Given the description of an element on the screen output the (x, y) to click on. 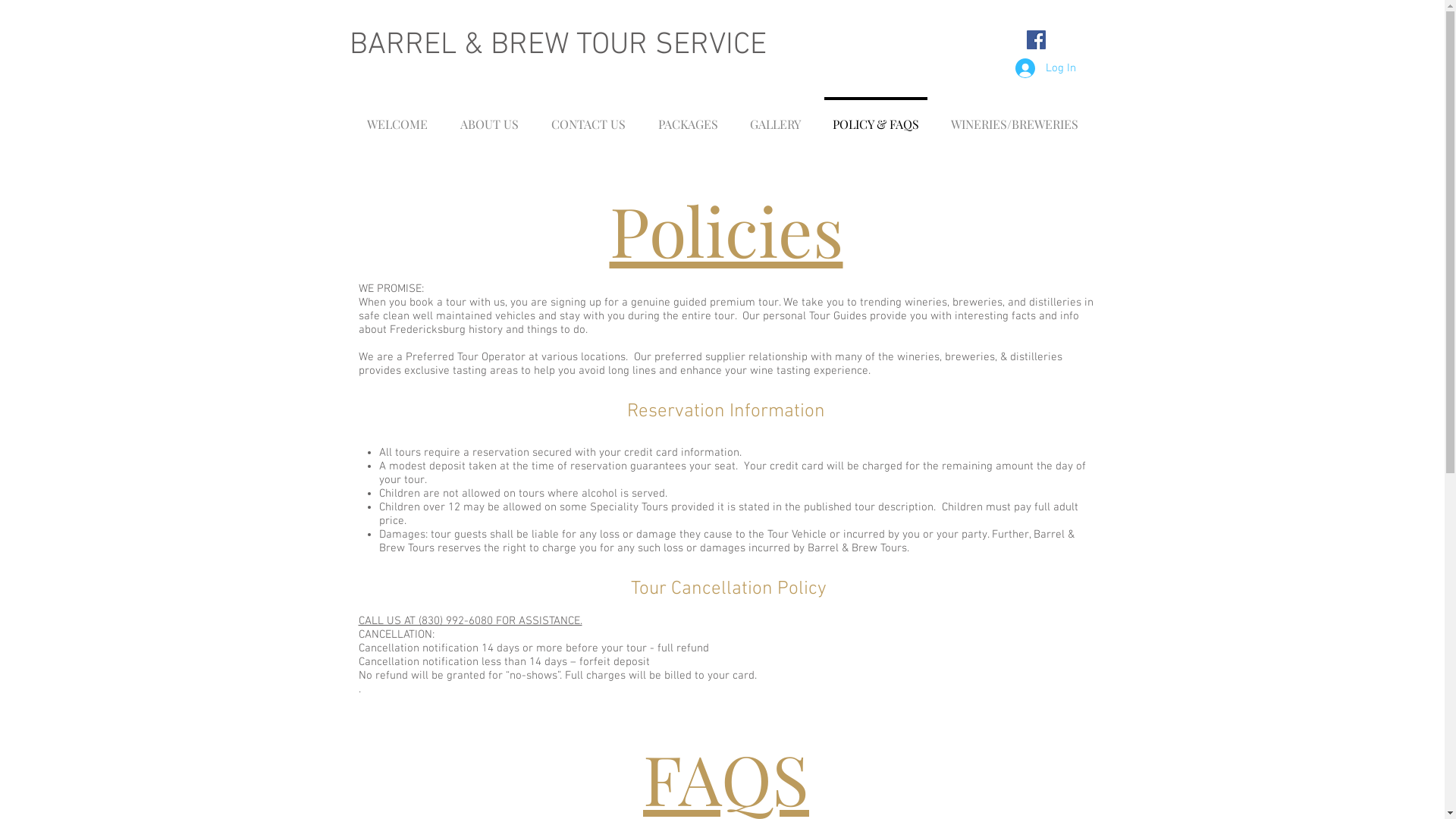
GALLERY Element type: text (775, 117)
CONTACT US Element type: text (588, 117)
WINERIES/BREWERIES Element type: text (1013, 117)
WELCOME Element type: text (396, 117)
PACKAGES Element type: text (687, 117)
POLICY & FAQS Element type: text (874, 117)
ABOUT US Element type: text (489, 117)
Log In Element type: text (1044, 67)
CALL US AT (830) 992-6080 FOR ASSISTANCE. Element type: text (469, 620)
BARREL & BREW TOUR SERVICE Element type: text (556, 45)
